Given the description of an element on the screen output the (x, y) to click on. 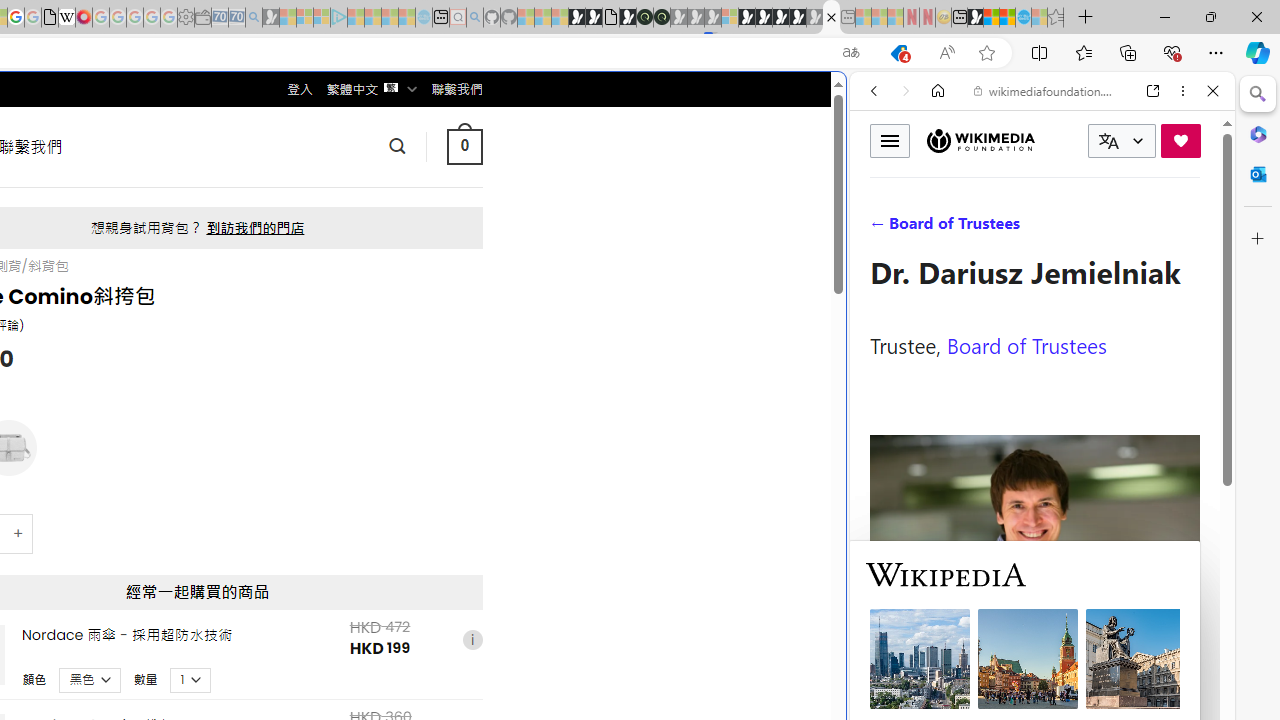
+ (19, 532)
Toggle menu (890, 140)
